Given the description of an element on the screen output the (x, y) to click on. 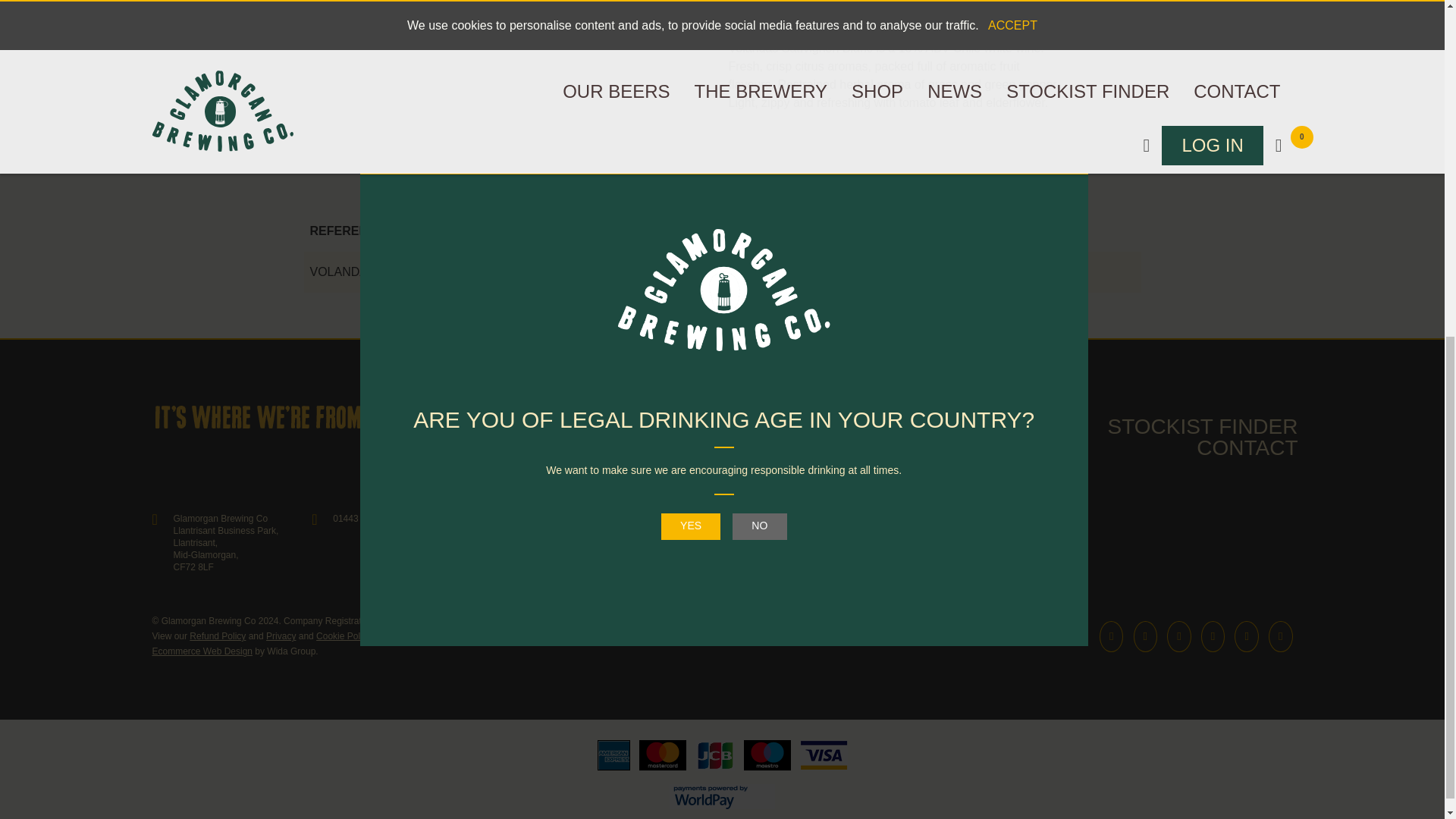
CONTACT (1246, 447)
Refund Policy (217, 635)
Cookie Policy (343, 635)
NEWS (1043, 426)
STOCKIST FINDER (1201, 426)
Ecommerce Web Design (201, 651)
OUR BEERS (637, 426)
THE BREWERY (810, 426)
SHOP (949, 426)
Privacy (280, 635)
